Given the description of an element on the screen output the (x, y) to click on. 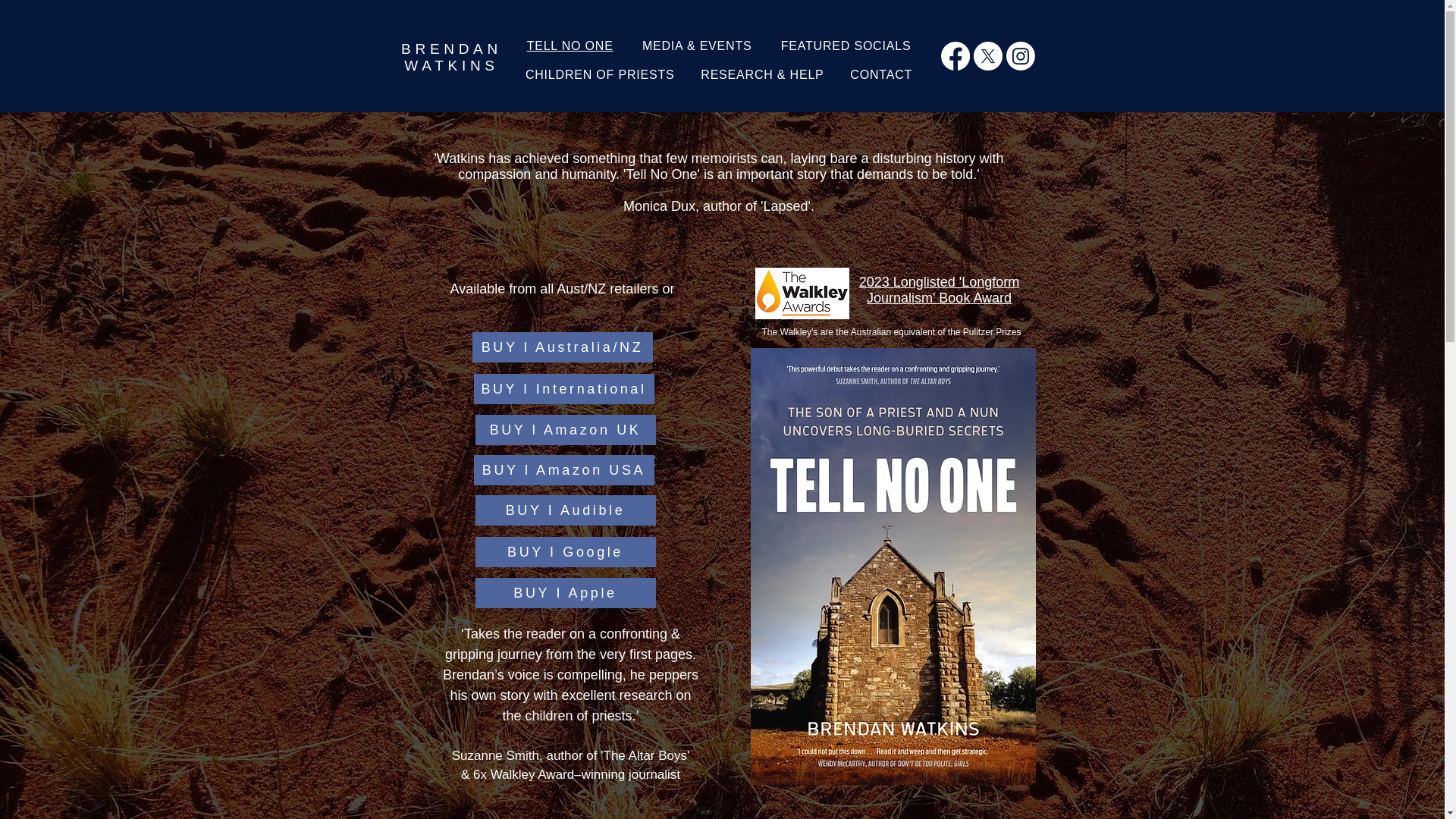
TELL NO ONE (569, 46)
CHILDREN OF PRIESTS (599, 74)
FEATURED SOCIALS (846, 46)
BUY l International (563, 388)
BUY I Google (564, 552)
Brendan Watkins Walkley Awards (801, 293)
BUY I Audible (564, 510)
CONTACT (881, 74)
2023 Longlisted 'Longform Journalism' Book Award (451, 56)
BUY l Amazon USA (939, 289)
BUY l Amazon UK (563, 470)
BUY I Apple (564, 429)
